Given the description of an element on the screen output the (x, y) to click on. 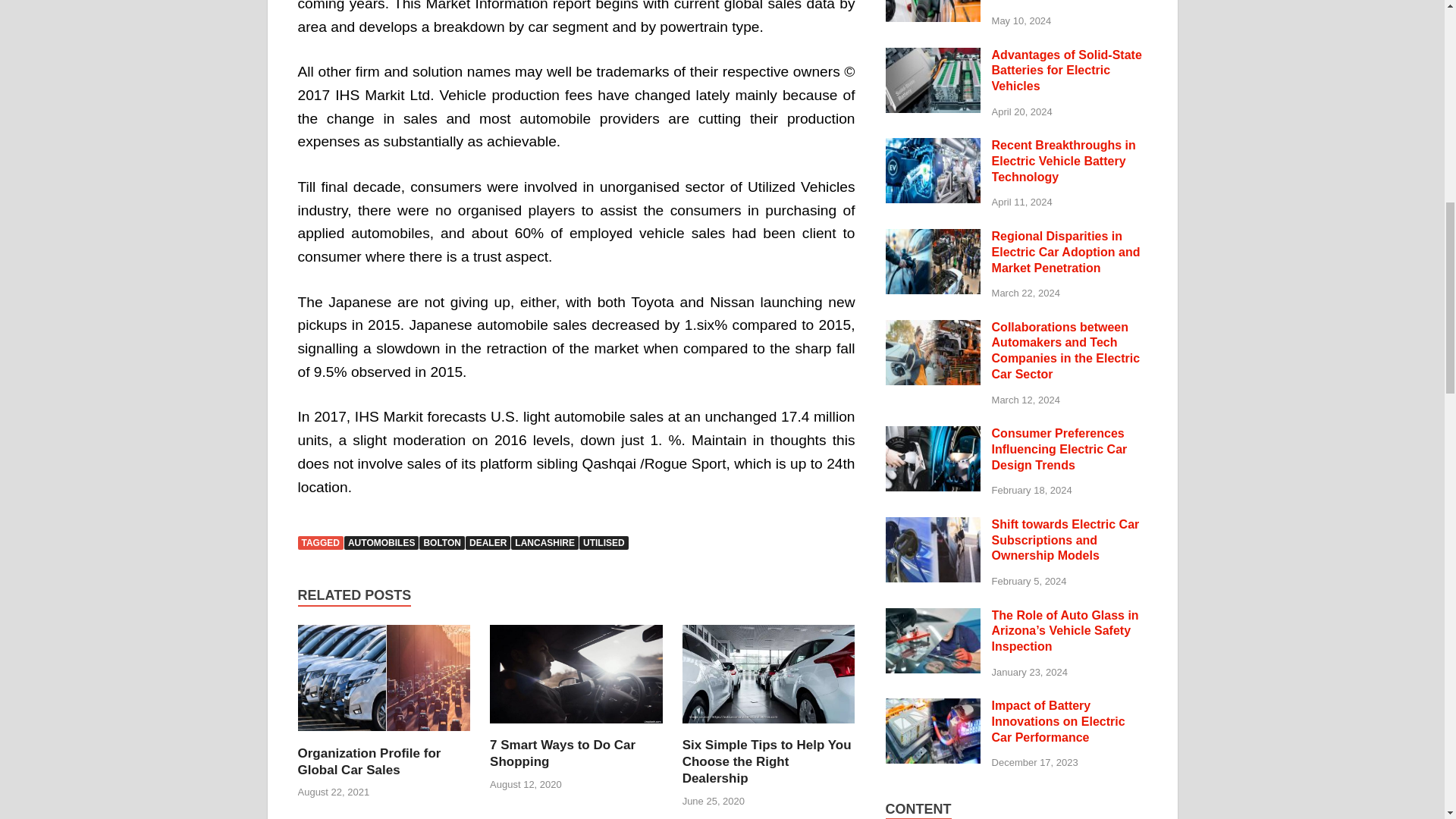
Six Simple Tips to Help You Choose the Right Dealership (766, 761)
Consumer Preferences Influencing Electric Car Design Trends (932, 434)
Recent Breakthroughs in Electric Vehicle Battery Technology (932, 146)
Impact of Battery Innovations on Electric Car Performance (932, 707)
Advantages of Solid-State Batteries for Electric Vehicles (932, 56)
7 Smart Ways to Do Car Shopping (575, 727)
Organization Profile for Global Car Sales (383, 735)
Six Simple Tips to Help You Choose the Right Dealership (769, 727)
Organization Profile for Global Car Sales (369, 761)
7 Smart Ways to Do Car Shopping (561, 753)
